Given the description of an element on the screen output the (x, y) to click on. 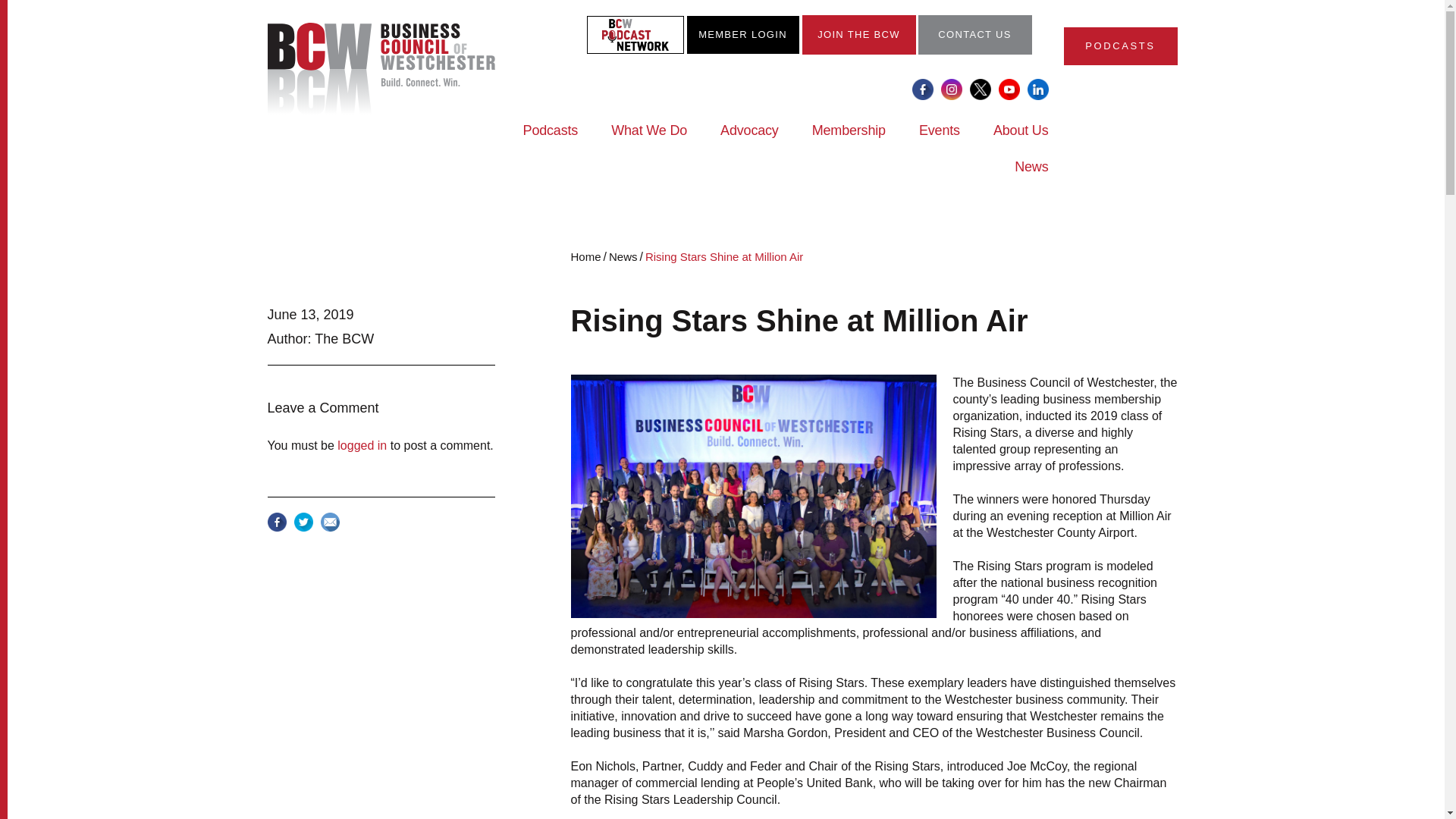
Go to Business Council of Westchester. (586, 256)
Podcasts (550, 139)
Go to News. (623, 256)
Membership (848, 139)
What We Do (649, 139)
Advocacy (749, 139)
